Given the description of an element on the screen output the (x, y) to click on. 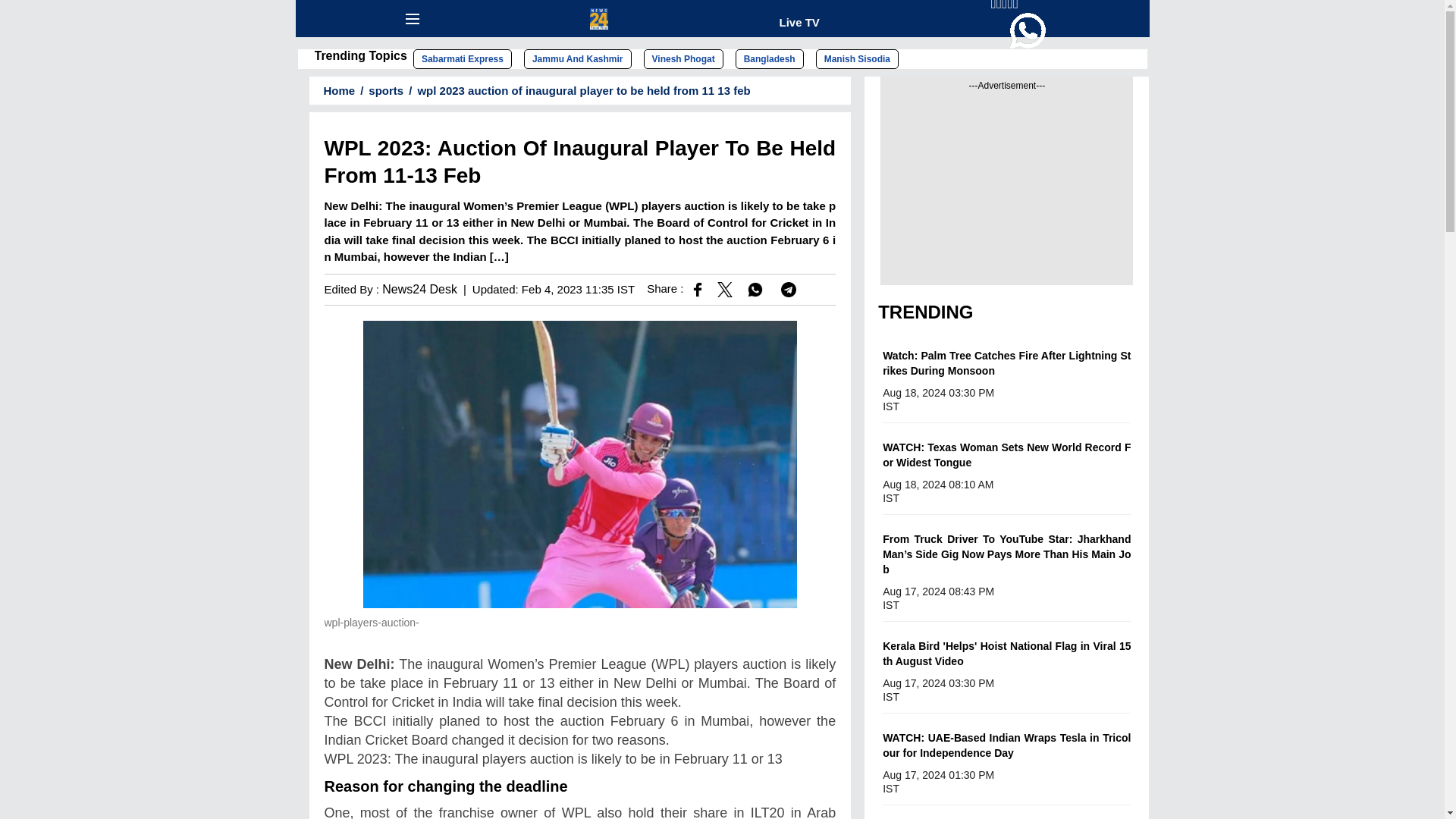
Vinesh Phogat (683, 58)
Jammu And Kashmir (577, 58)
Sabarmati Express (462, 58)
Manish Sisodia (856, 58)
Home (334, 90)
Live TV (798, 21)
News24 Desk (419, 288)
Bangladesh (769, 58)
